Given the description of an element on the screen output the (x, y) to click on. 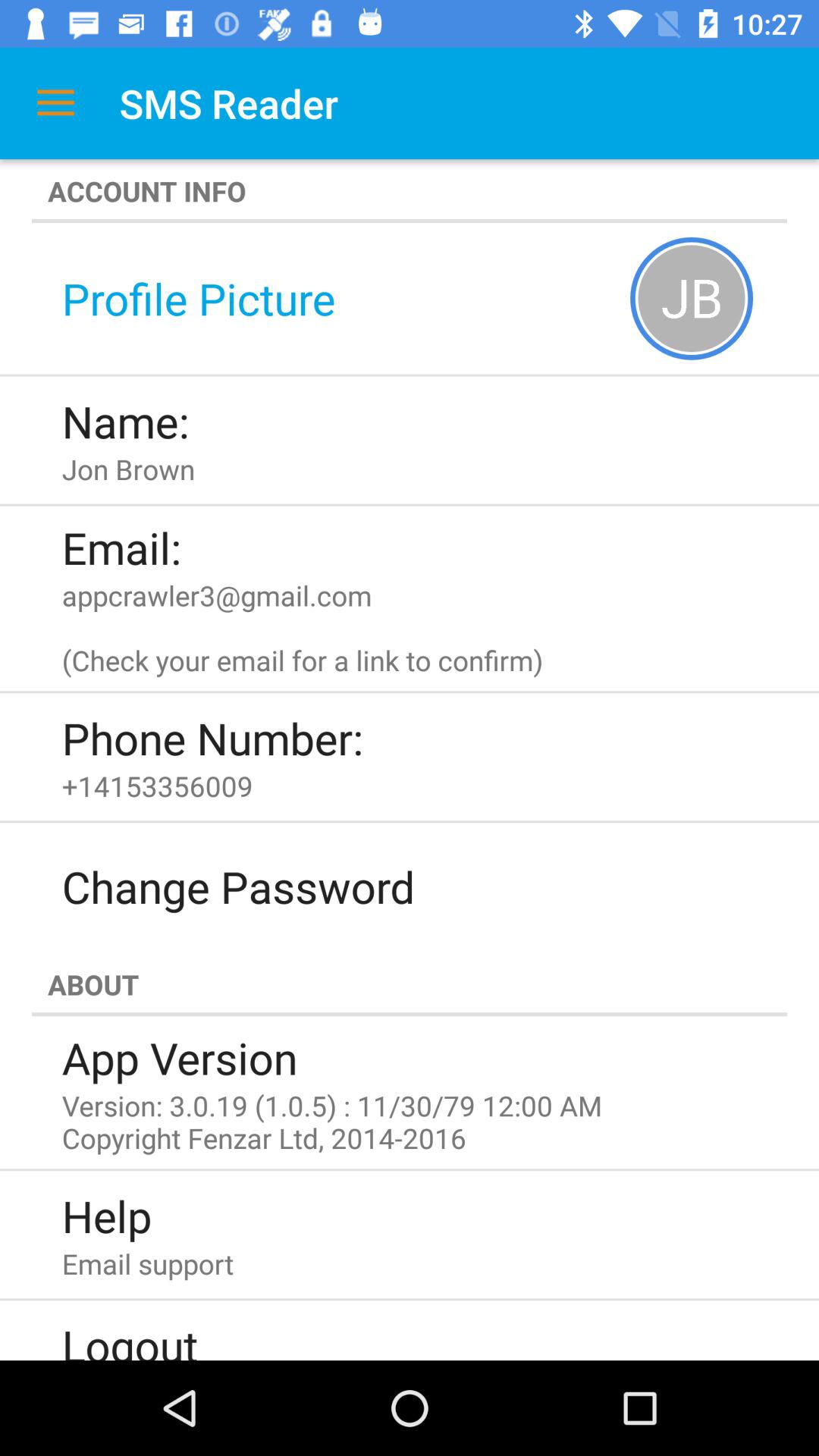
select icon above the account info icon (55, 103)
